Given the description of an element on the screen output the (x, y) to click on. 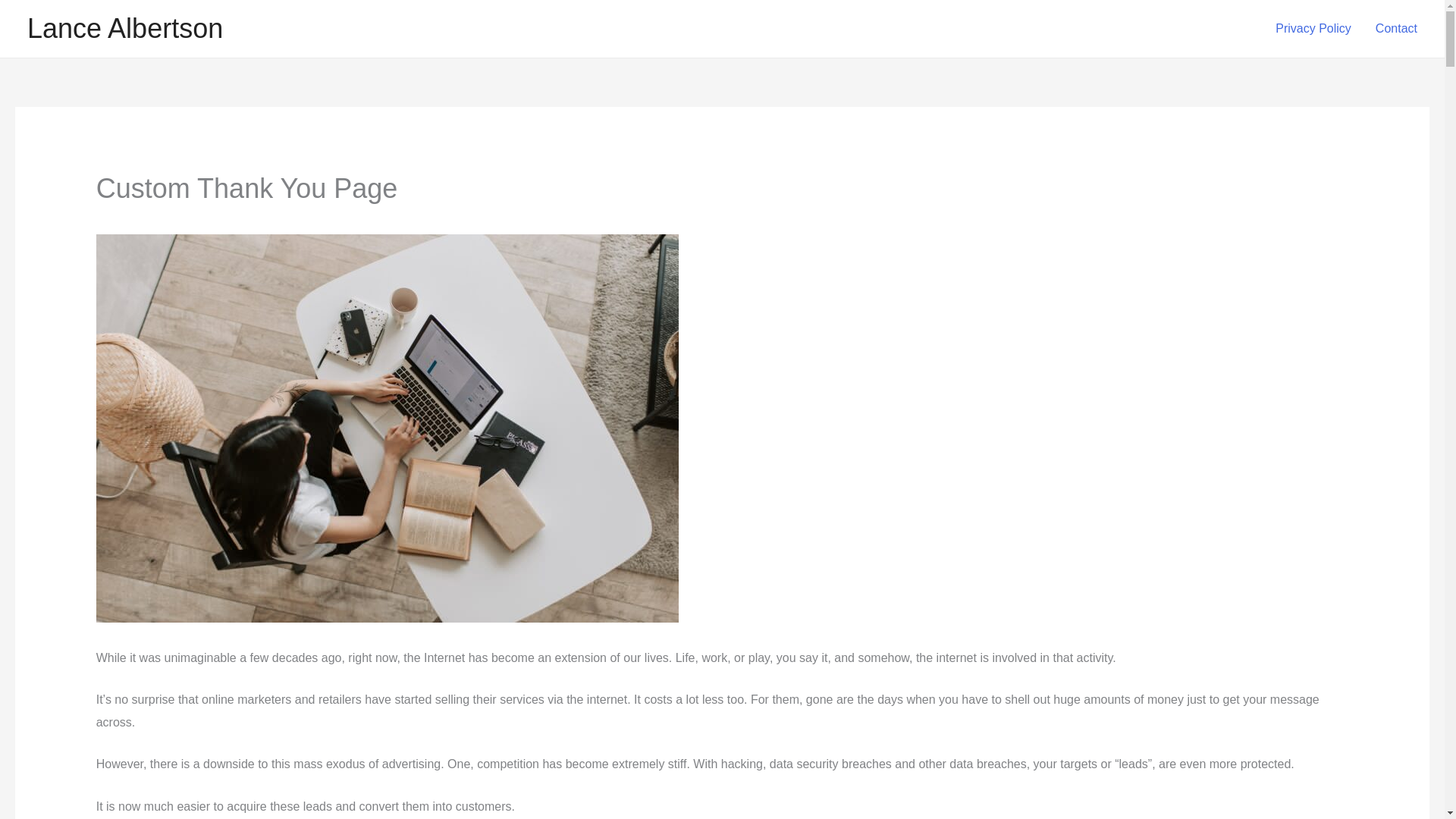
Contact (1395, 28)
Privacy Policy (1312, 28)
Lance Albertson (124, 28)
